Given the description of an element on the screen output the (x, y) to click on. 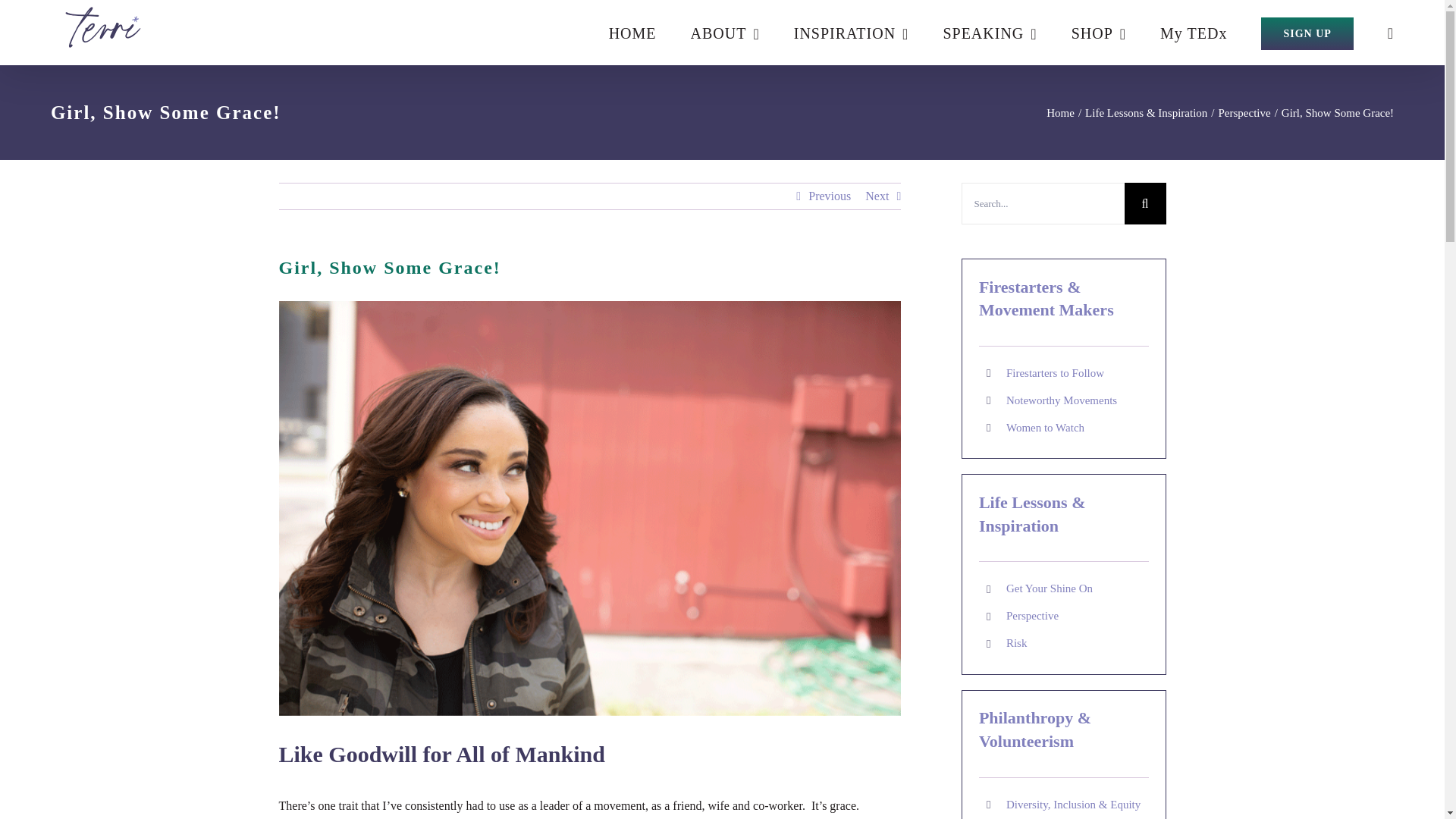
SIGN UP (1306, 32)
Previous (829, 196)
Next (876, 196)
My TEDx (1193, 32)
INSPIRATION (850, 32)
SPEAKING (989, 32)
Perspective (1243, 111)
ABOUT (725, 32)
Home (1060, 111)
